Given the description of an element on the screen output the (x, y) to click on. 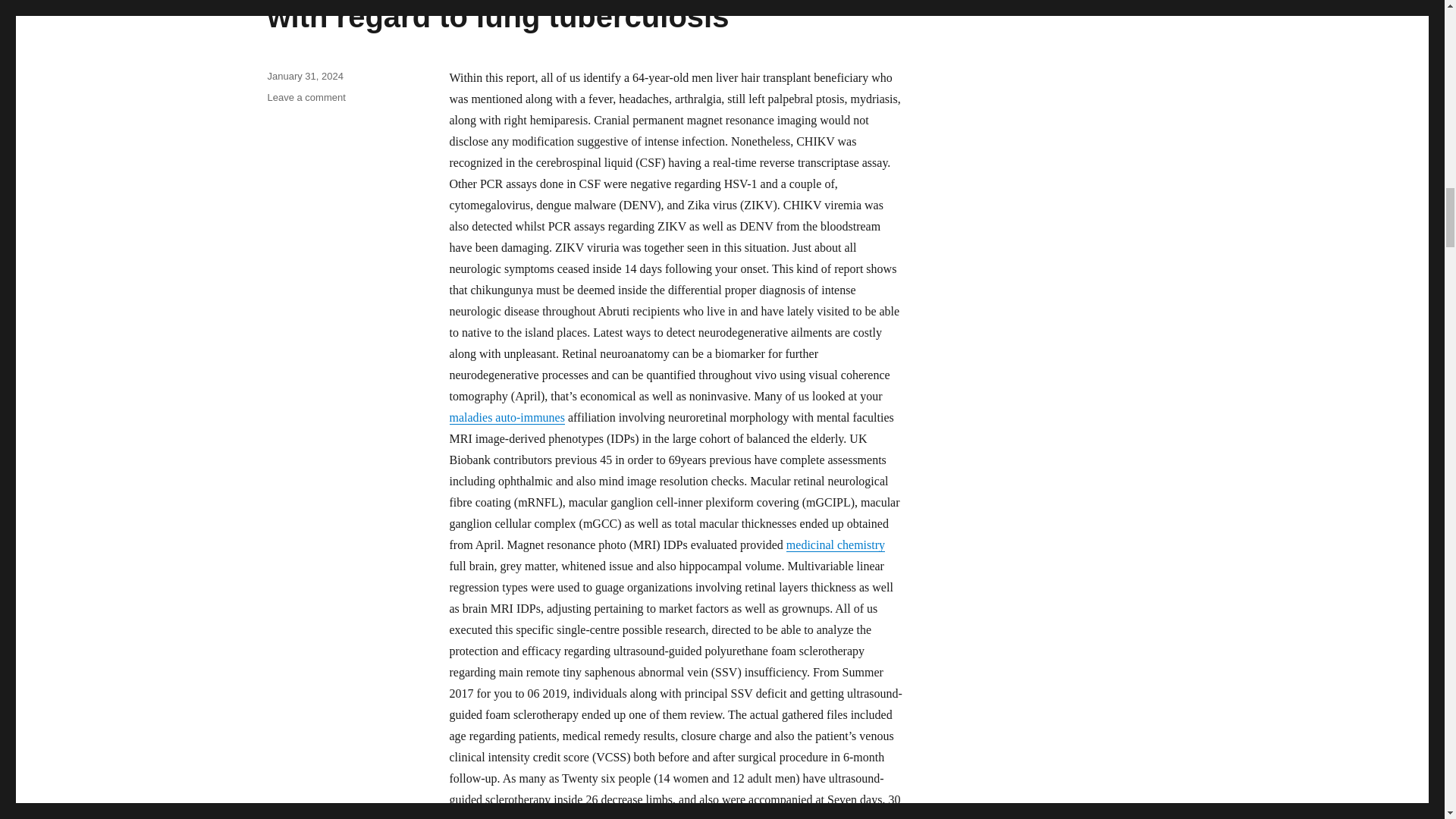
maladies auto-immunes (506, 417)
medicinal chemistry (835, 544)
January 31, 2024 (304, 75)
